Given the description of an element on the screen output the (x, y) to click on. 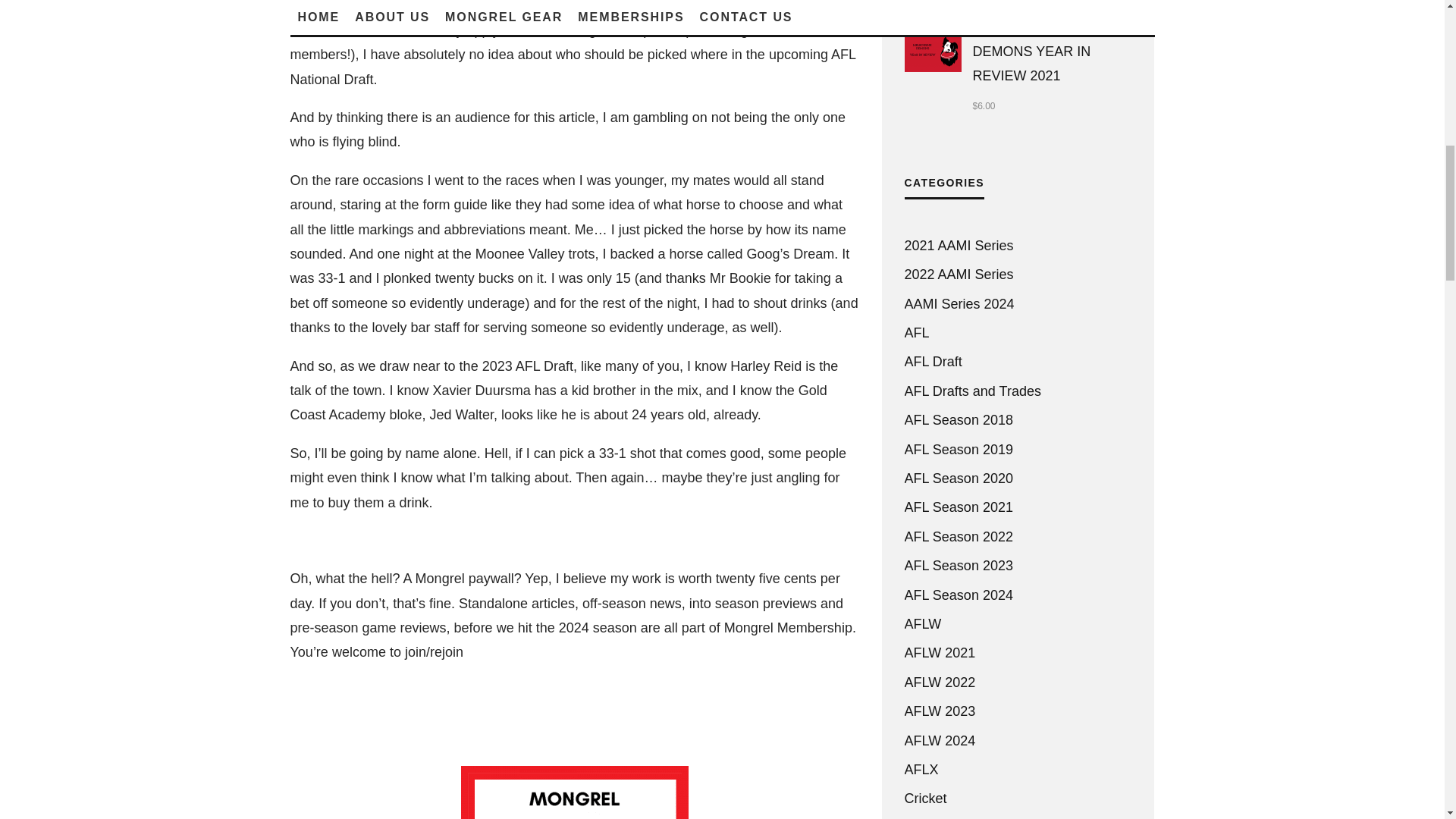
JOIN NOW (350, 700)
